Given the description of an element on the screen output the (x, y) to click on. 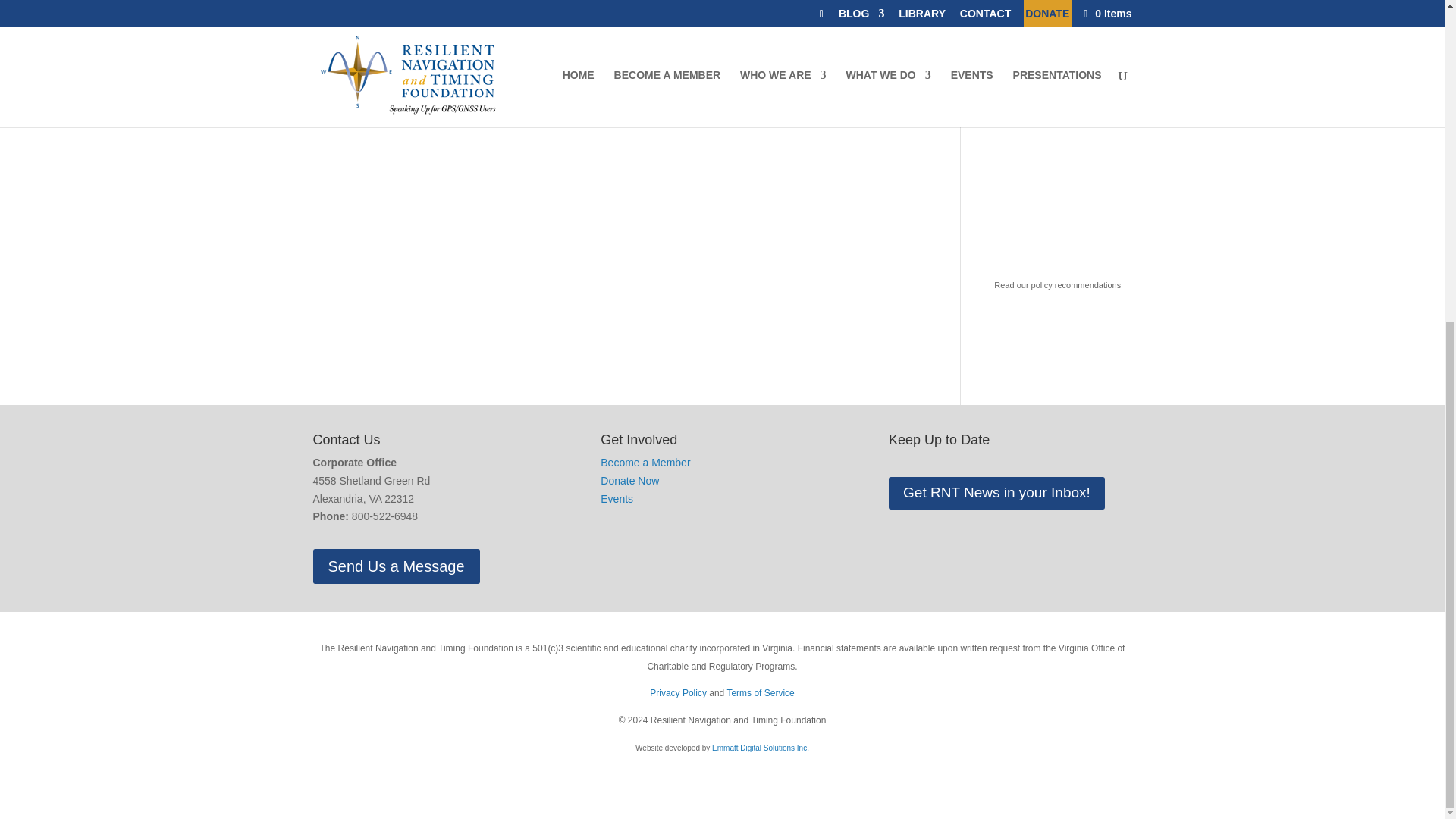
Send Us a Message (396, 565)
Become a Member (644, 462)
More Info (334, 110)
Read our policy recommendations (1057, 284)
